Given the description of an element on the screen output the (x, y) to click on. 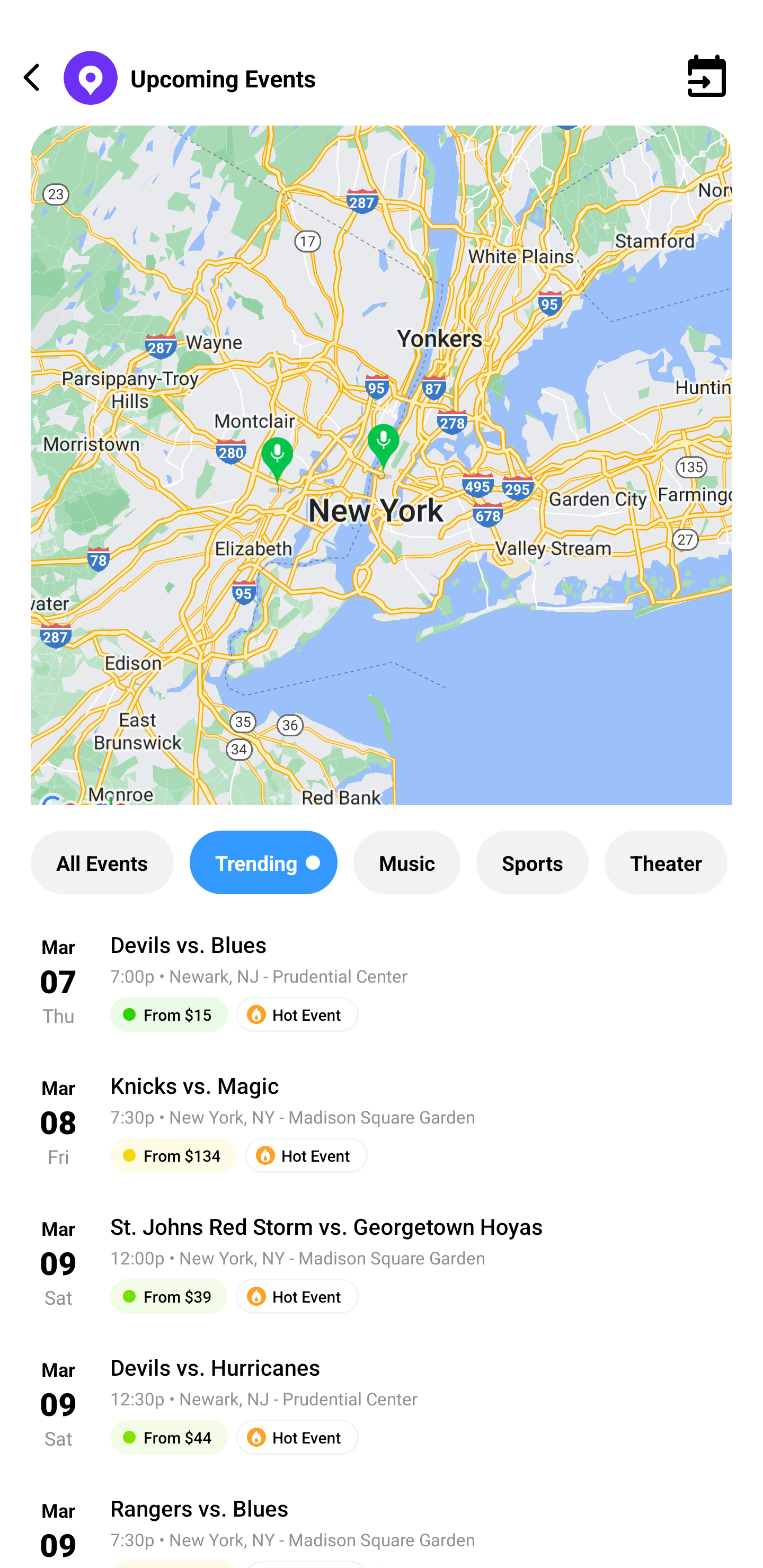
Google Map Map Marker Map Marker (381, 480)
All Events (101, 862)
Trending (263, 862)
Music (406, 862)
Sports (532, 862)
Theater (665, 862)
